Given the description of an element on the screen output the (x, y) to click on. 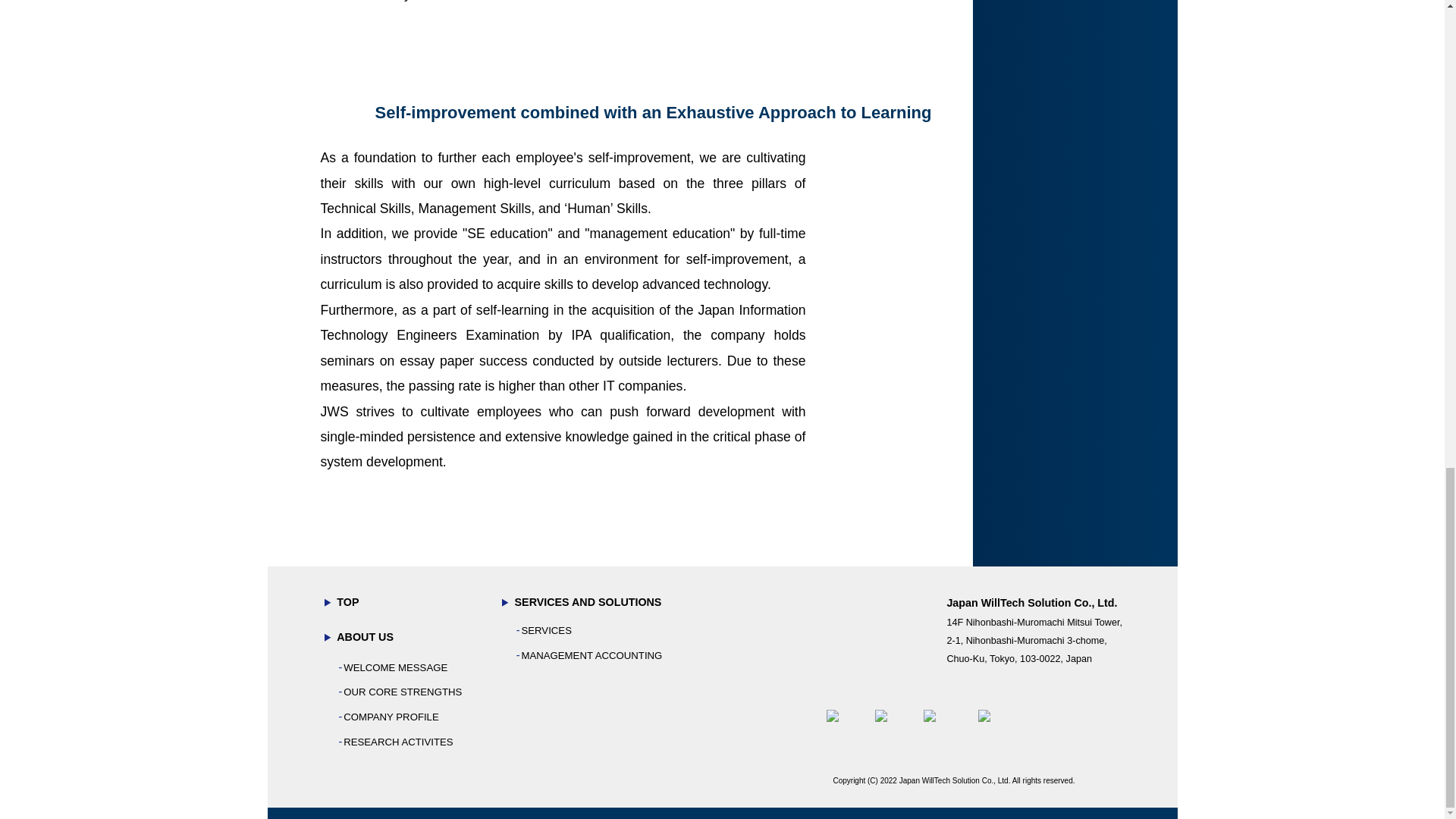
TOP (347, 602)
RESEARCH ACTIVITES (397, 741)
SERVICES (545, 630)
WELCOME MESSAGE (394, 667)
OUR CORE STRENGTHS (402, 691)
MANAGEMENT ACCOUNTING (591, 655)
COMPANY PROFILE (391, 716)
